Given the description of an element on the screen output the (x, y) to click on. 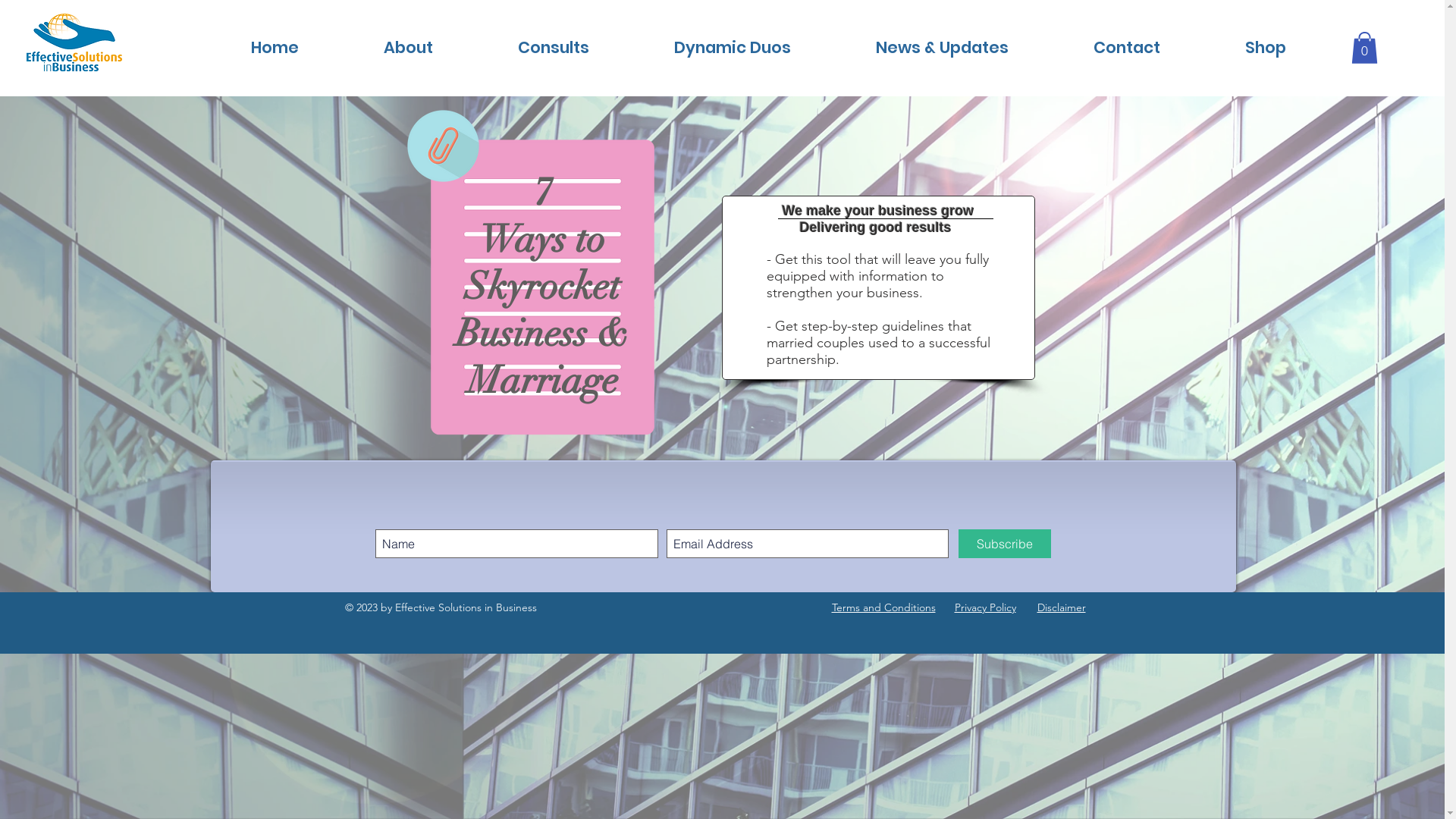
Dynamic Duos Element type: text (731, 47)
Subscribe Element type: text (1004, 543)
About Element type: text (408, 47)
Disclaimer Element type: text (1061, 607)
Shop Element type: text (1265, 47)
Contact Element type: text (1126, 47)
Privacy Policy Element type: text (984, 607)
Consults Element type: text (552, 47)
Terms and Conditions Element type: text (883, 607)
Home Element type: text (273, 47)
0 Element type: text (1364, 47)
News & Updates Element type: text (941, 47)
